Given the description of an element on the screen output the (x, y) to click on. 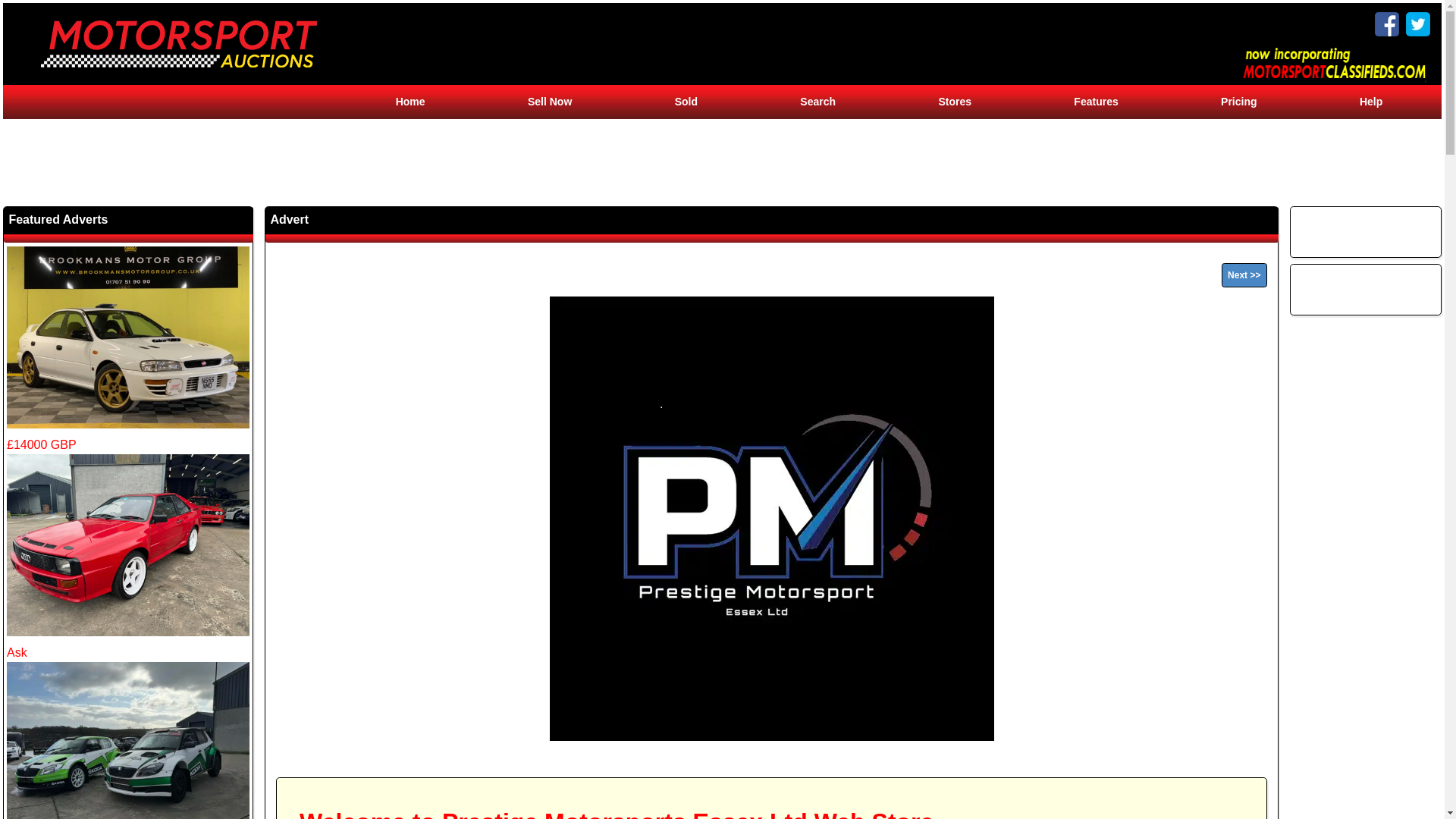
Features (1095, 101)
Sold (685, 101)
Stores (954, 101)
Search (817, 101)
Ask (127, 740)
Home (410, 101)
Help (1371, 101)
Ask (127, 556)
Pricing (1237, 101)
Sell Now (549, 101)
